Given the description of an element on the screen output the (x, y) to click on. 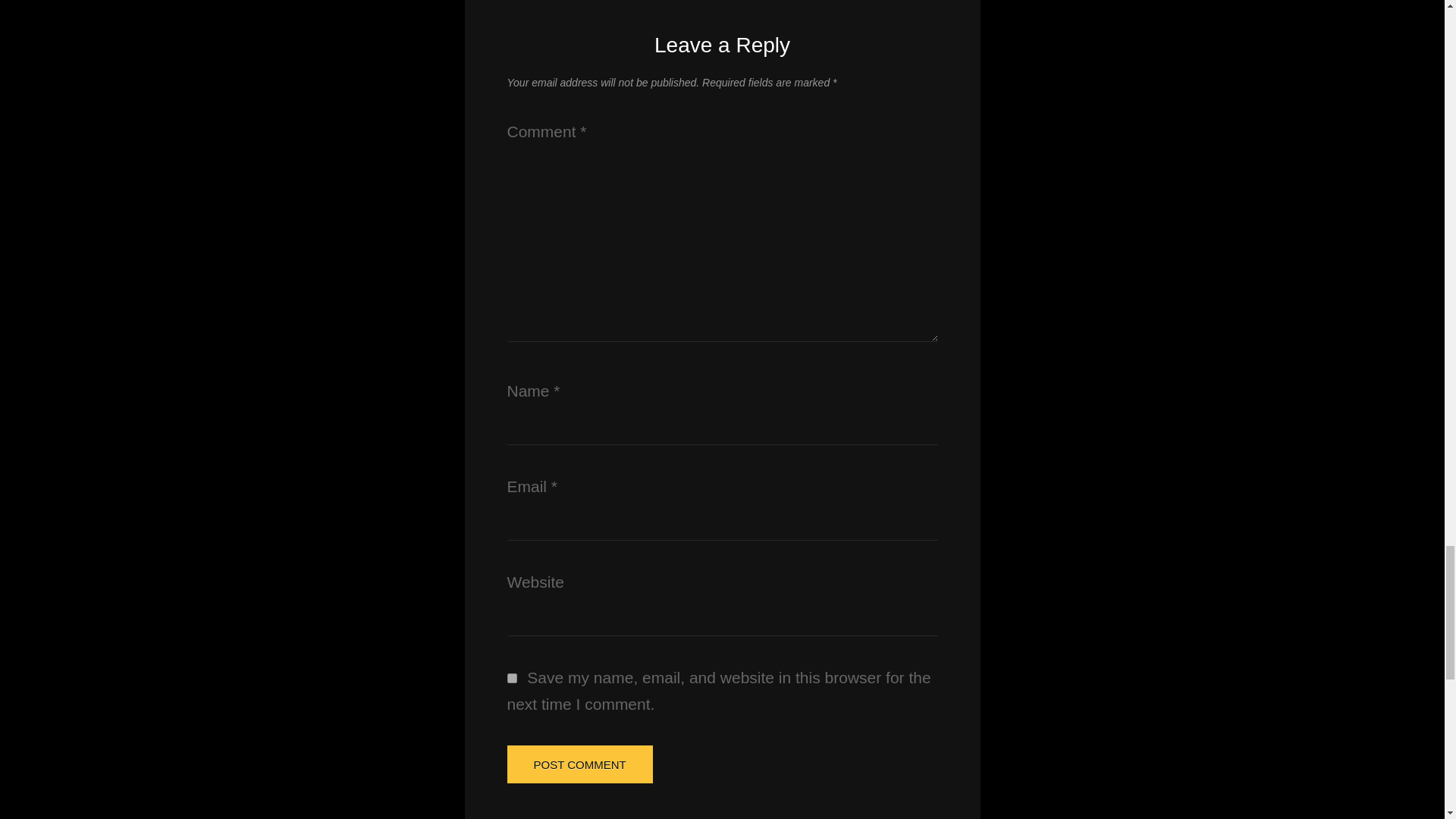
Post Comment (579, 763)
Post Comment (579, 763)
yes (511, 678)
